Given the description of an element on the screen output the (x, y) to click on. 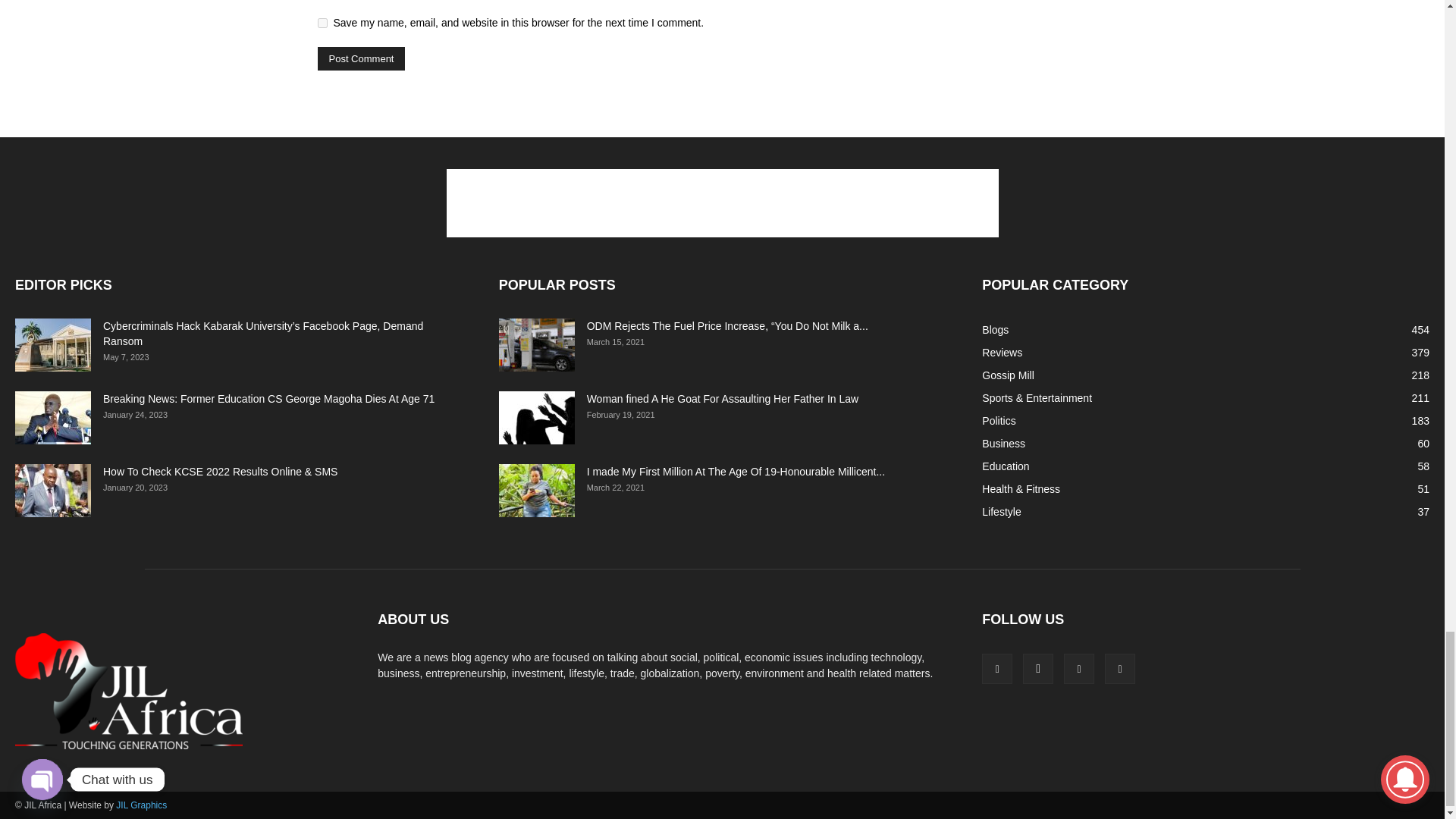
yes (321, 22)
Post Comment (360, 58)
